Given the description of an element on the screen output the (x, y) to click on. 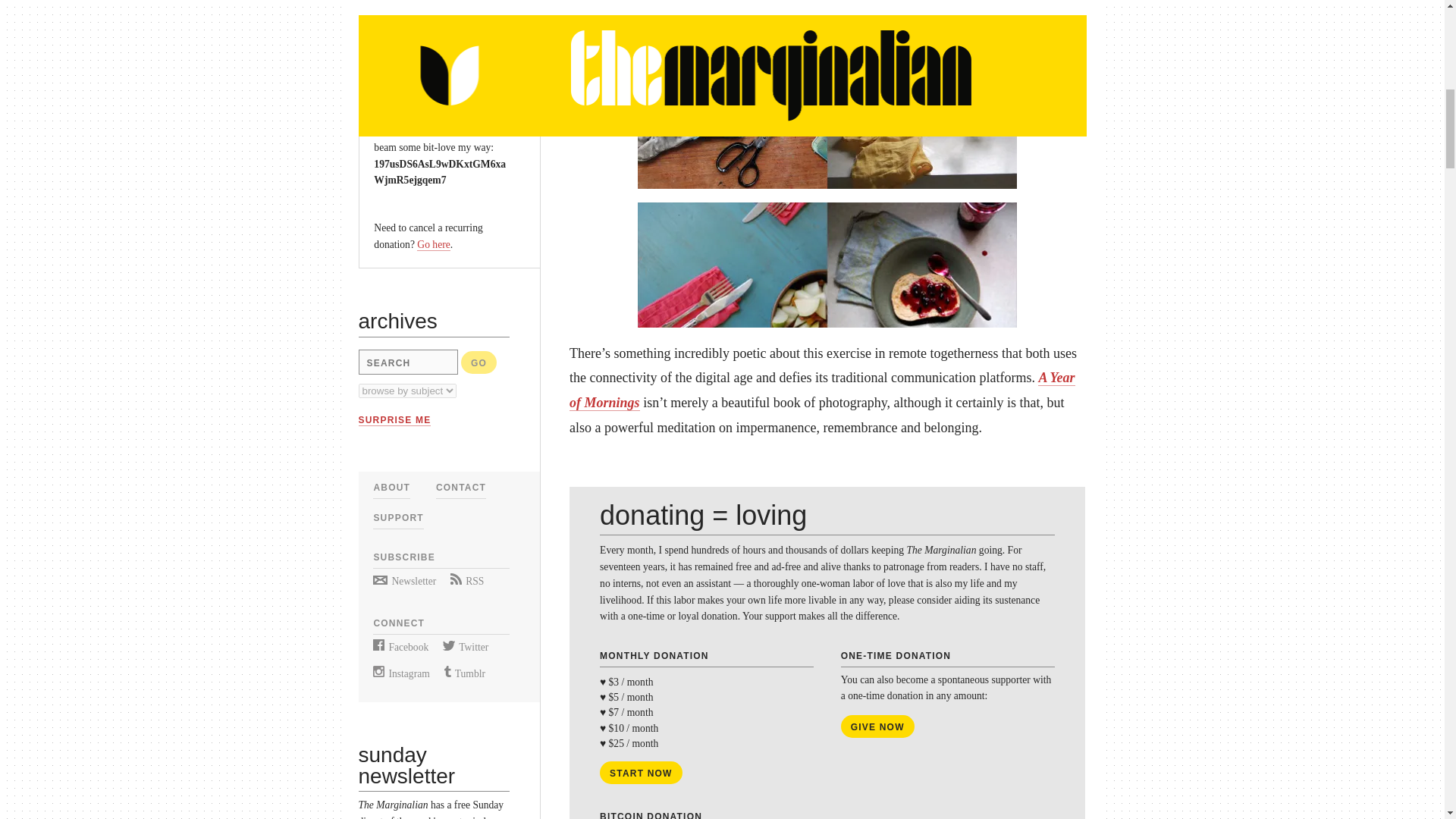
Tumblr (464, 673)
Go (478, 362)
CONTACT (460, 487)
Twitter (464, 646)
SUPPORT (397, 517)
Facebook (400, 646)
RSS (466, 581)
SURPRISE ME (394, 419)
Go here (432, 244)
ABOUT (391, 487)
Go (478, 362)
GIVE NOW (410, 53)
Newsletter (403, 581)
Instagram (400, 673)
